Given the description of an element on the screen output the (x, y) to click on. 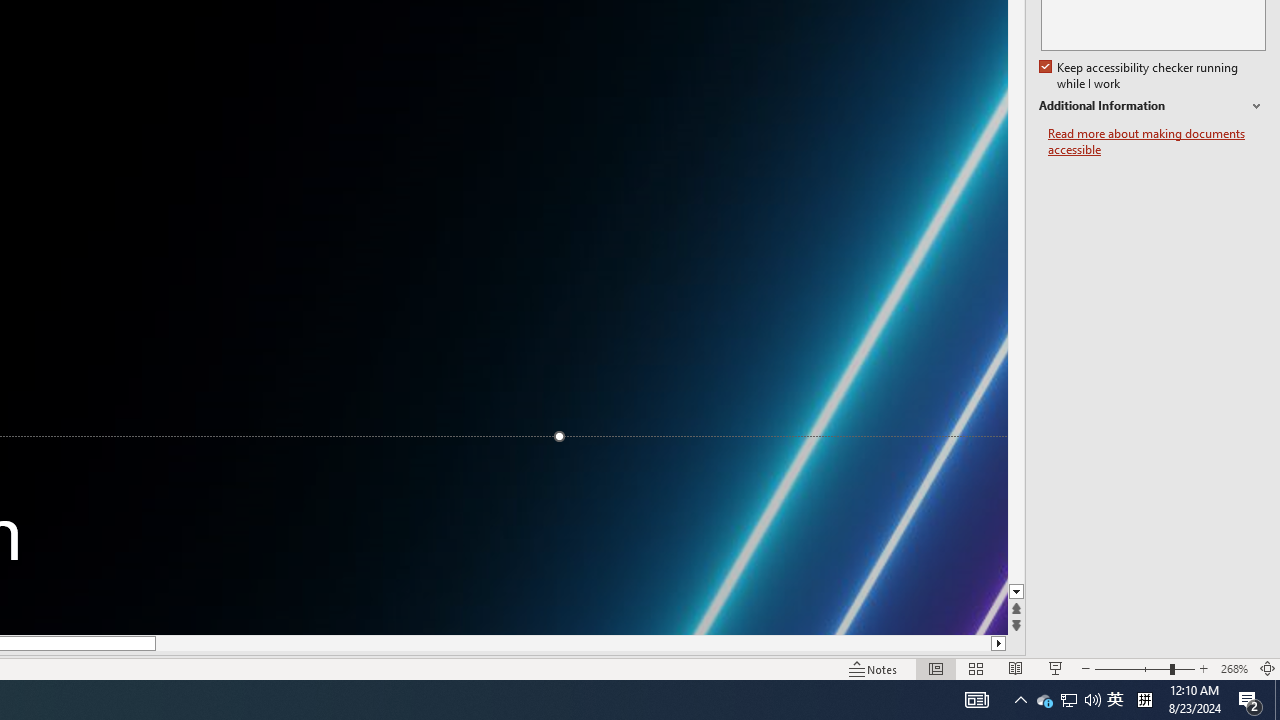
Zoom 268% (1234, 668)
Additional Information (1152, 106)
Read more about making documents accessible (1156, 142)
Keep accessibility checker running while I work (1140, 76)
